Given the description of an element on the screen output the (x, y) to click on. 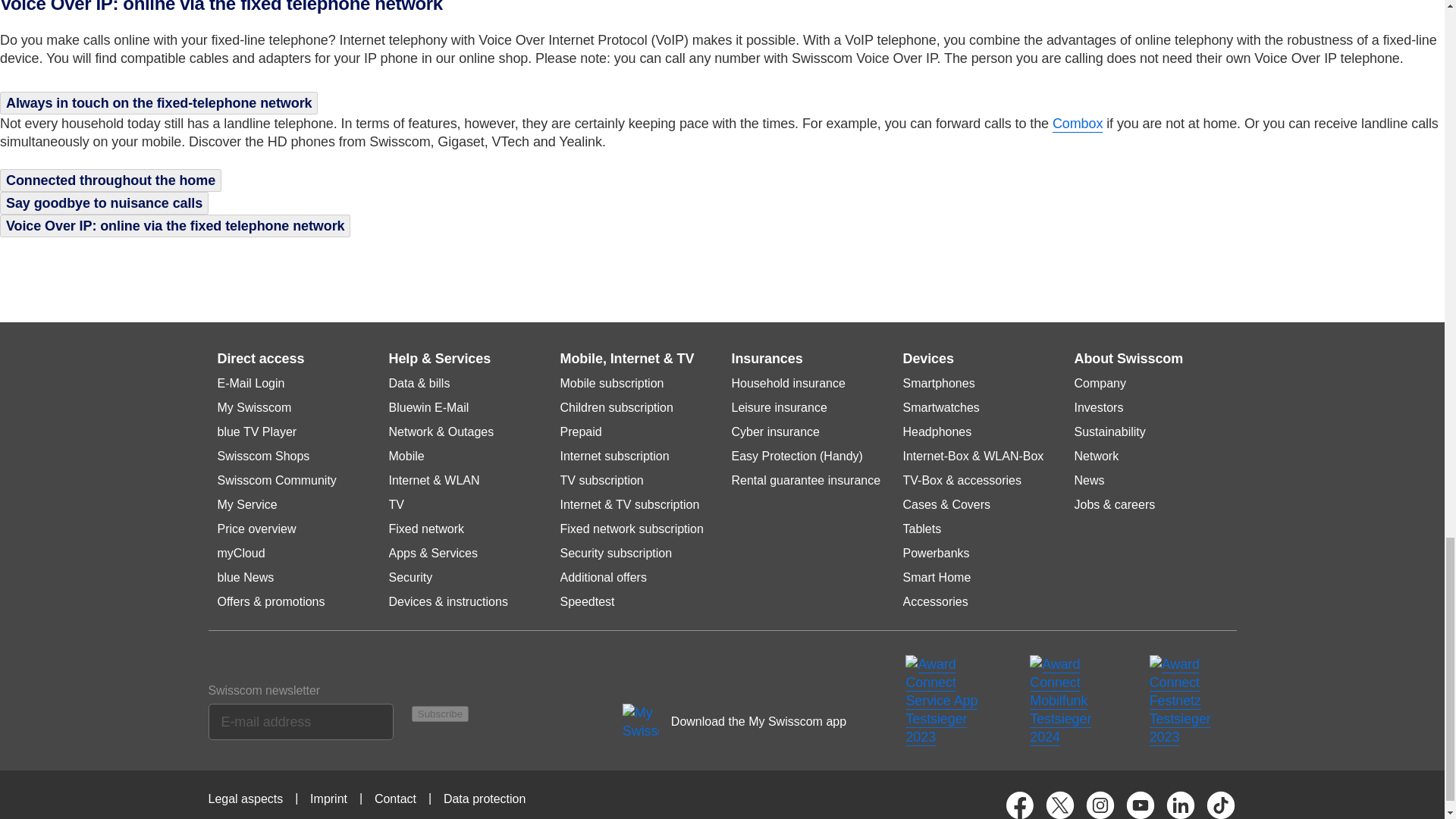
My Swisscom (253, 407)
Bluewin E-Mail (428, 407)
Prepaid (580, 431)
Internet subscription (613, 456)
blue News (244, 577)
Children subscription (615, 407)
E-Mail Login (249, 383)
Swisscom Community (276, 480)
Swisscom Shops (262, 456)
TV (395, 504)
blue TV Player (256, 431)
Fixed network (426, 529)
My Service (246, 504)
Mobile subscription (611, 383)
Combox (1077, 123)
